Given the description of an element on the screen output the (x, y) to click on. 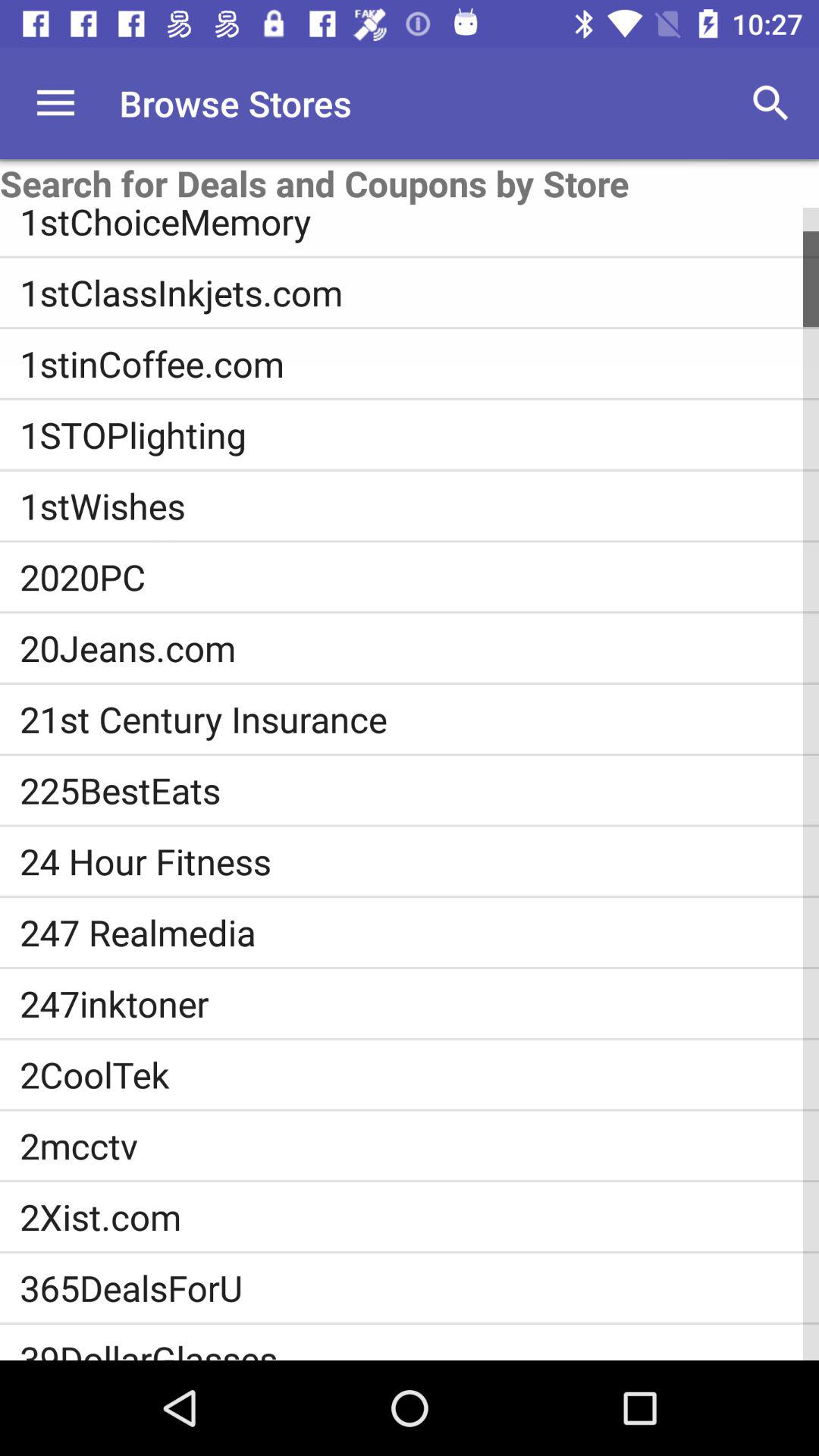
press the 225besteats item (419, 790)
